Given the description of an element on the screen output the (x, y) to click on. 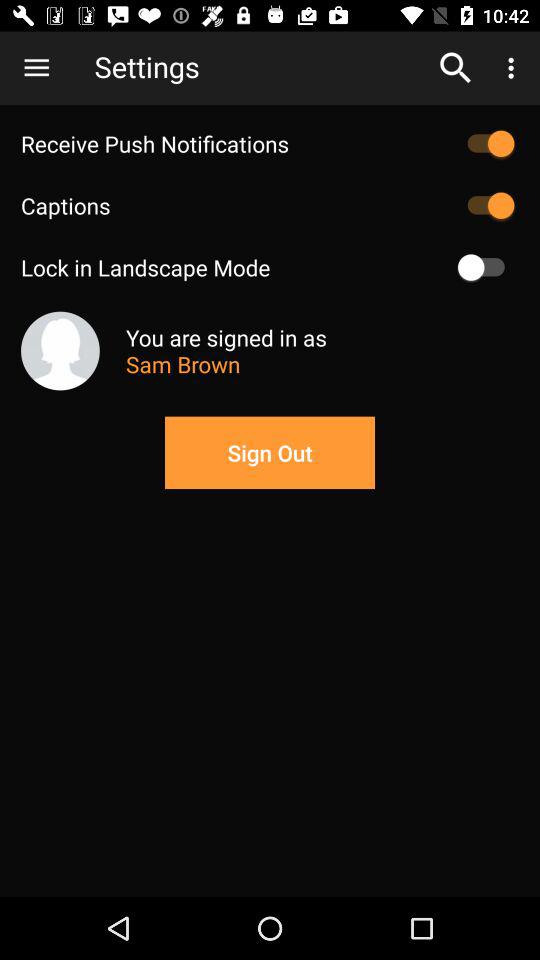
on or off (486, 205)
